Given the description of an element on the screen output the (x, y) to click on. 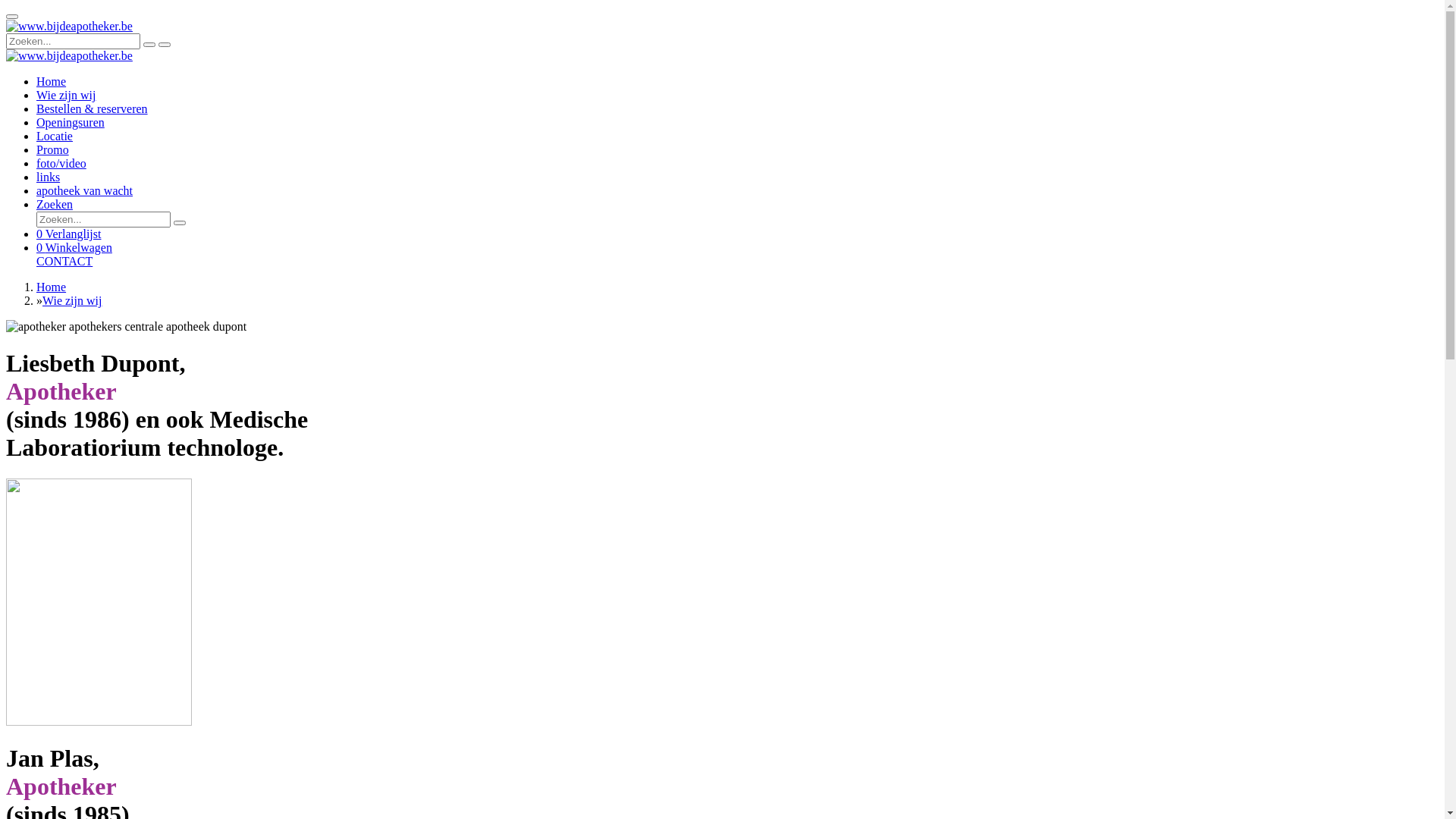
Zoeken Element type: text (54, 203)
apotheek van wacht Element type: text (84, 190)
Home Element type: text (50, 81)
Promo Element type: text (52, 149)
www.bijdeapotheker.be Element type: hover (69, 26)
Home Element type: text (50, 286)
links Element type: text (47, 176)
Bestellen & reserveren Element type: text (91, 108)
www.bijdeapotheker.be Element type: hover (69, 55)
Wie zijn wij Element type: text (65, 94)
0 Winkelwagen Element type: text (74, 247)
Locatie Element type: text (54, 135)
CONTACT Element type: text (737, 261)
Openingsuren Element type: text (70, 122)
Wie zijn wij Element type: text (71, 300)
0 Verlanglijst Element type: text (68, 233)
foto/video Element type: text (61, 162)
